Given the description of an element on the screen output the (x, y) to click on. 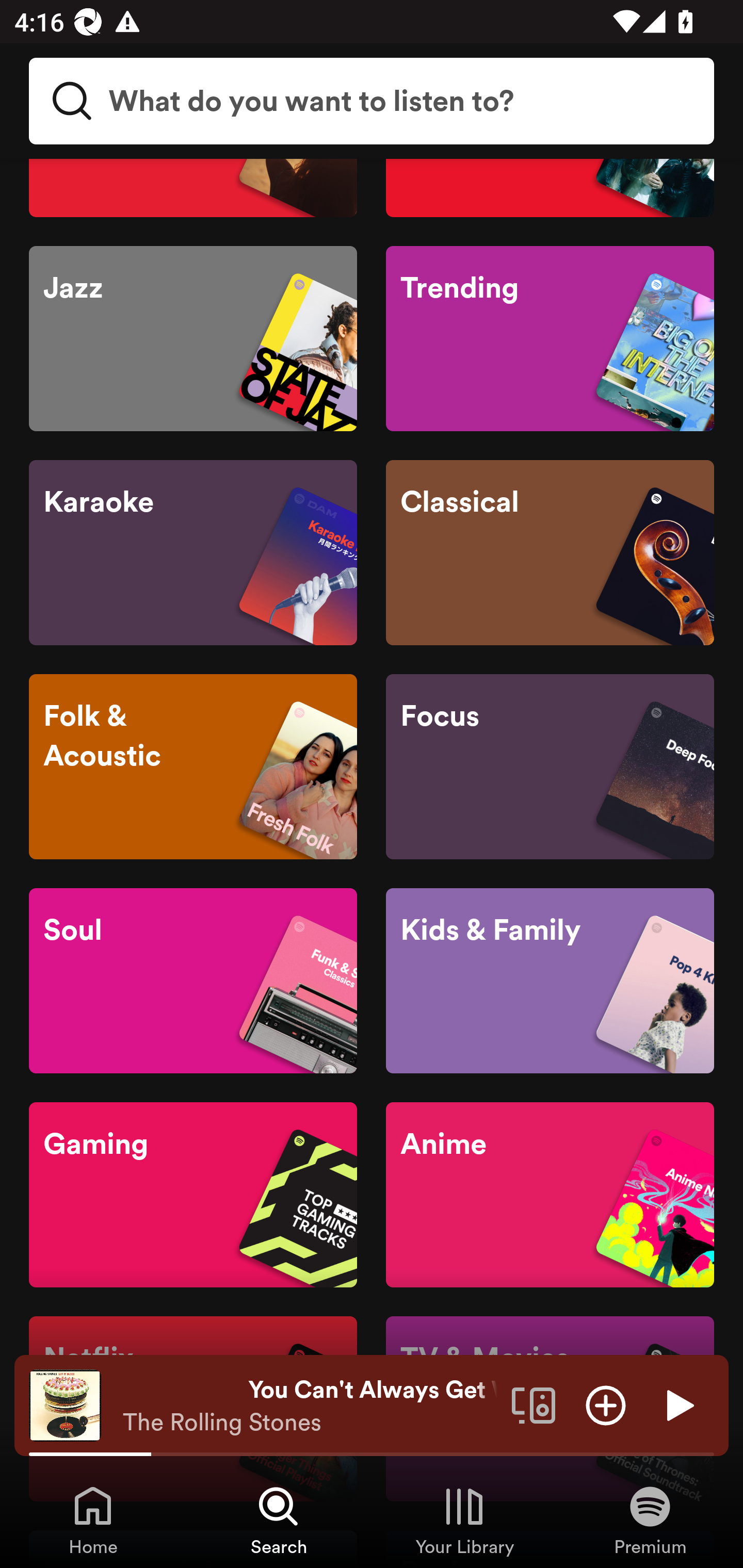
Jazz (192, 338)
Trending (549, 338)
Karaoke (192, 552)
Classical (549, 552)
Folk & Acoustic (192, 766)
Focus (549, 766)
Soul (192, 980)
Kids & Family (549, 980)
Gaming (192, 1194)
Anime (549, 1194)
The cover art of the currently playing track (64, 1404)
Connect to a device. Opens the devices menu (533, 1404)
Add item (605, 1404)
Play (677, 1404)
Home, Tab 1 of 4 Home Home (92, 1519)
Search, Tab 2 of 4 Search Search (278, 1519)
Your Library, Tab 3 of 4 Your Library Your Library (464, 1519)
Premium, Tab 4 of 4 Premium Premium (650, 1519)
